Given the description of an element on the screen output the (x, y) to click on. 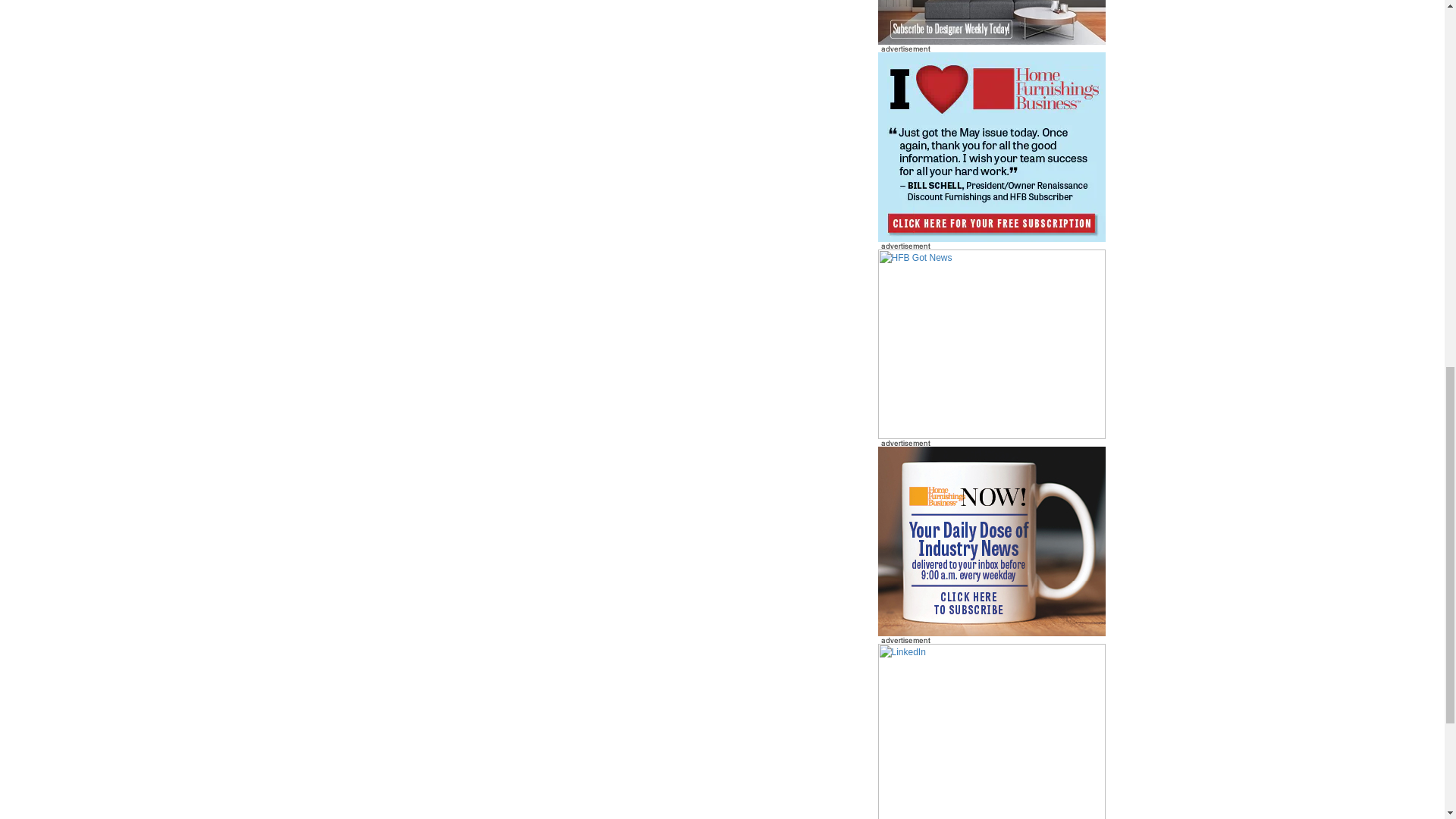
HFB Designer Weekly (991, 22)
HFB Subscribe IHeart (991, 343)
HFB I Love Schell (991, 145)
HFB Subscribe IHeart Schell (991, 146)
HFB Got News (991, 343)
